Given the description of an element on the screen output the (x, y) to click on. 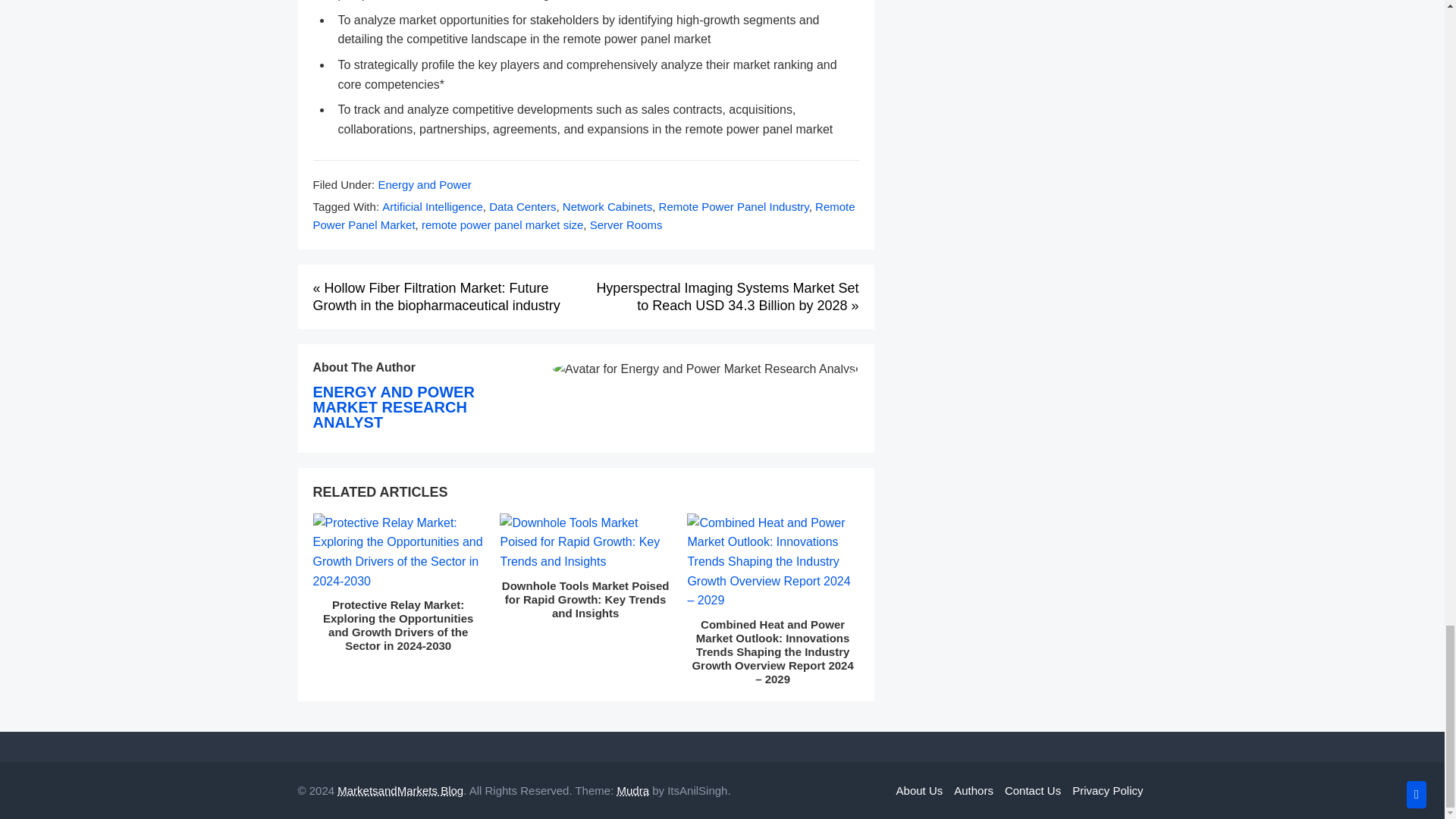
Mudra (632, 789)
Gravatar for Energy and Power Market Research Analyst (706, 369)
MarketsandMarkets Blog (400, 789)
